Given the description of an element on the screen output the (x, y) to click on. 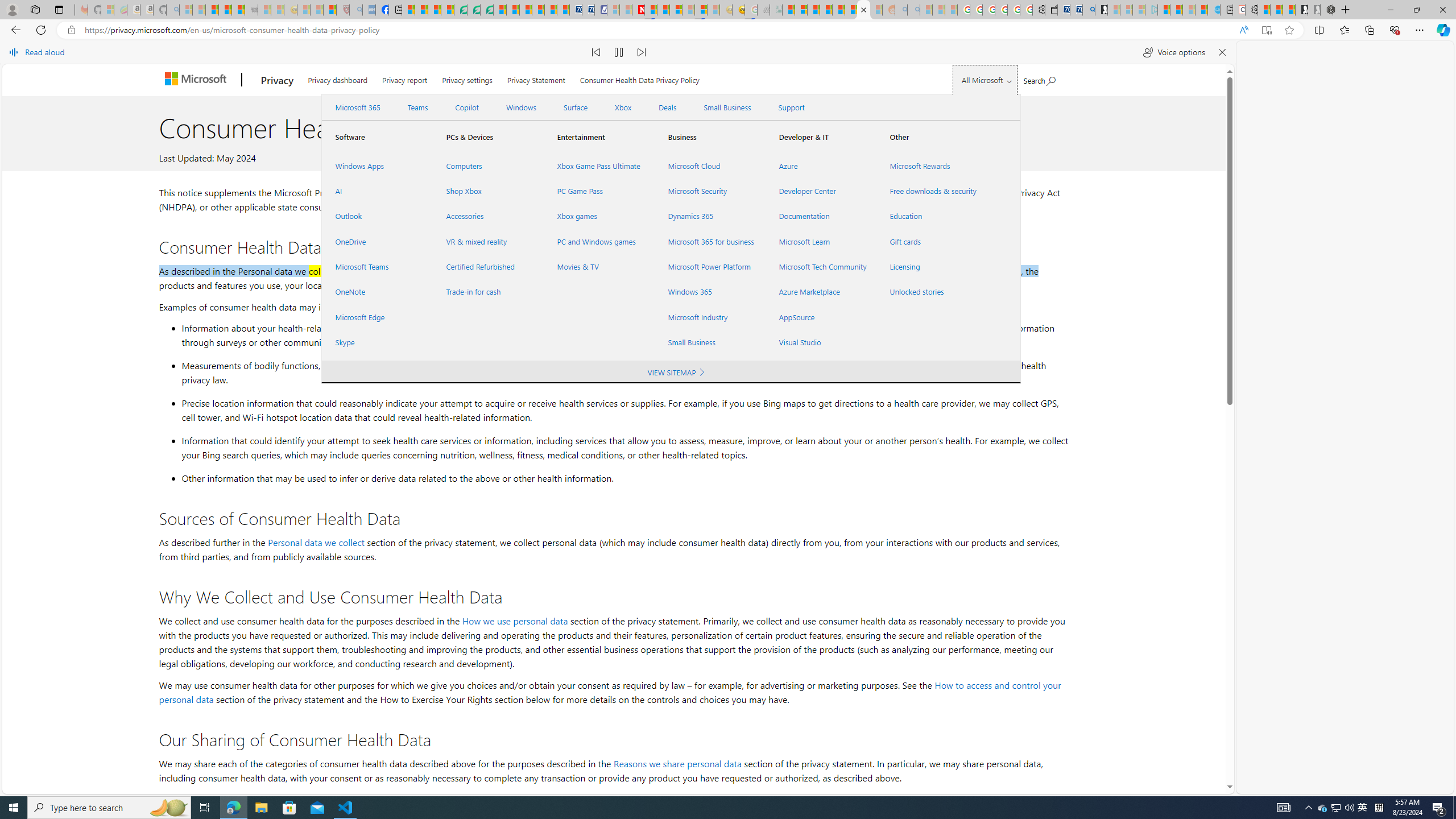
Free downloads & security (931, 190)
Xbox Game Pass Ultimate (599, 165)
Enter Immersive Reader (F9) (1266, 29)
Privacy report (404, 77)
OneDrive (376, 240)
Microsoft account | Privacy - Sleeping (1139, 9)
Free downloads & security (931, 190)
MSNBC - MSN (788, 9)
Surface (574, 107)
Unlocked stories (931, 291)
Terms of Use Agreement (473, 9)
